Given the description of an element on the screen output the (x, y) to click on. 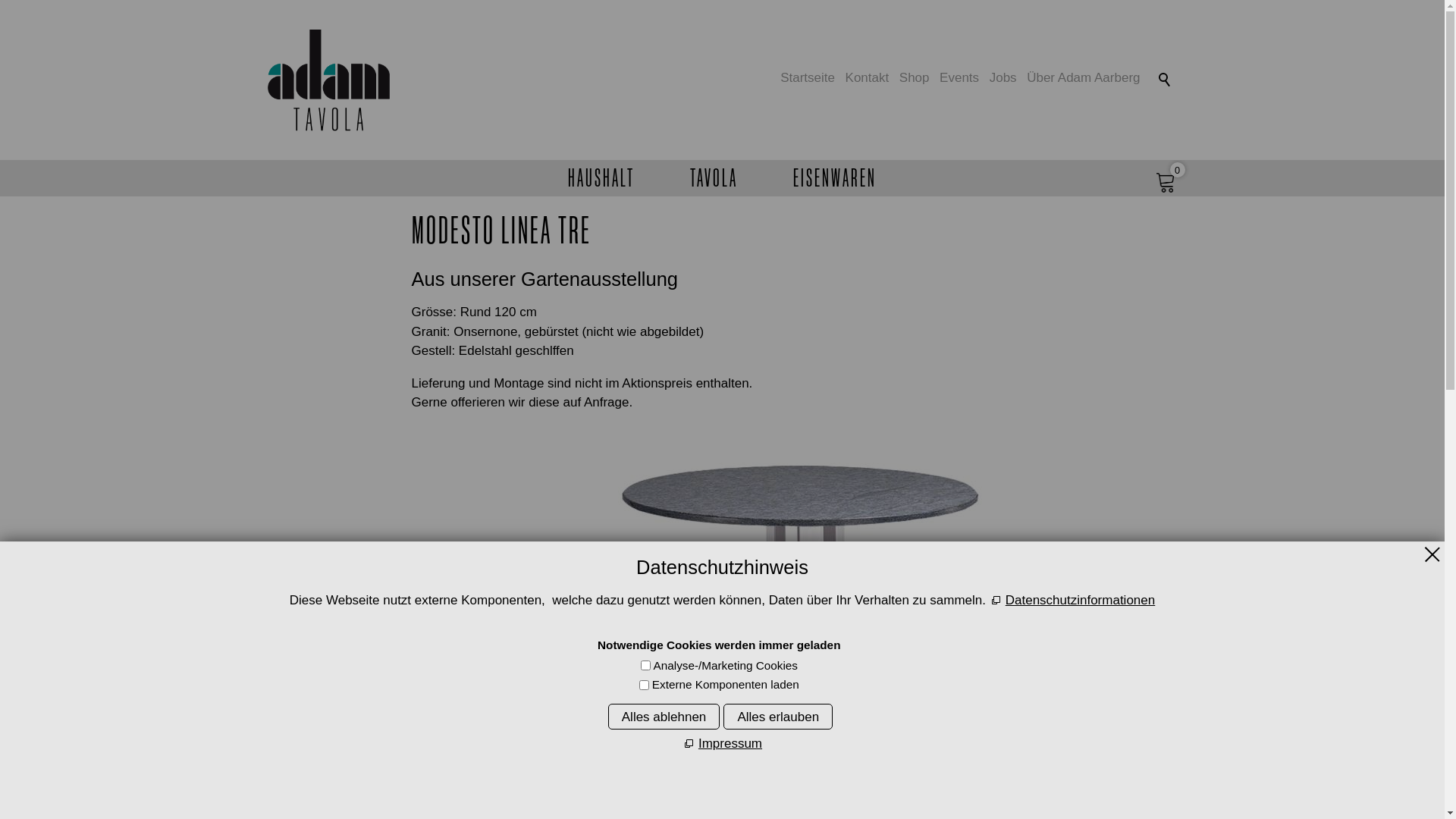
Startseite Element type: text (807, 77)
Zur Startseite Tavola Element type: hover (327, 79)
Events Element type: text (959, 77)
Alles ablehnen Element type: text (664, 716)
EISENWAREN Element type: text (834, 178)
Impressum Element type: text (722, 743)
Alles erlauben Element type: text (777, 716)
HAUSHALT Element type: text (601, 178)
Datenschutzinformationen Element type: text (1072, 600)
Modesto Linea Tre Element type: hover (721, 623)
Jobs Element type: text (1003, 77)
TAVOLA Element type: text (713, 178)
Kontakt Element type: text (867, 77)
Shop Element type: text (914, 77)
